Given the description of an element on the screen output the (x, y) to click on. 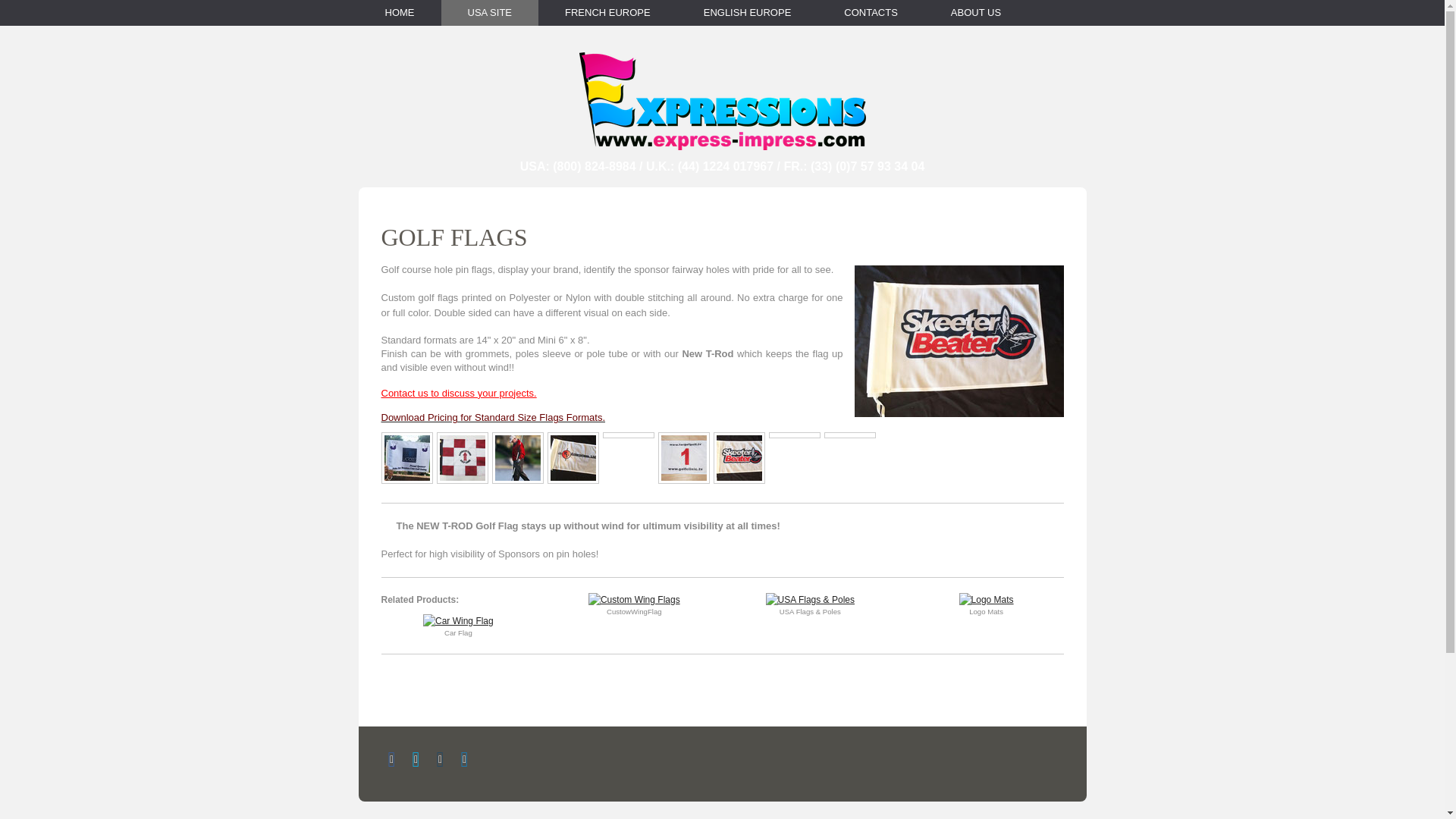
Twitter (415, 759)
ENGLISH EUROPE (747, 12)
Download Pricing for Standard Size Flags Formats. (492, 417)
ABOUT US (975, 12)
LinkedIn (463, 759)
Contact us to discuss your projects. (457, 392)
Facebook (390, 759)
USA SITE (489, 12)
FRENCH EUROPE (607, 12)
HOME (399, 12)
CONTACTS (870, 12)
Email (439, 759)
